Given the description of an element on the screen output the (x, y) to click on. 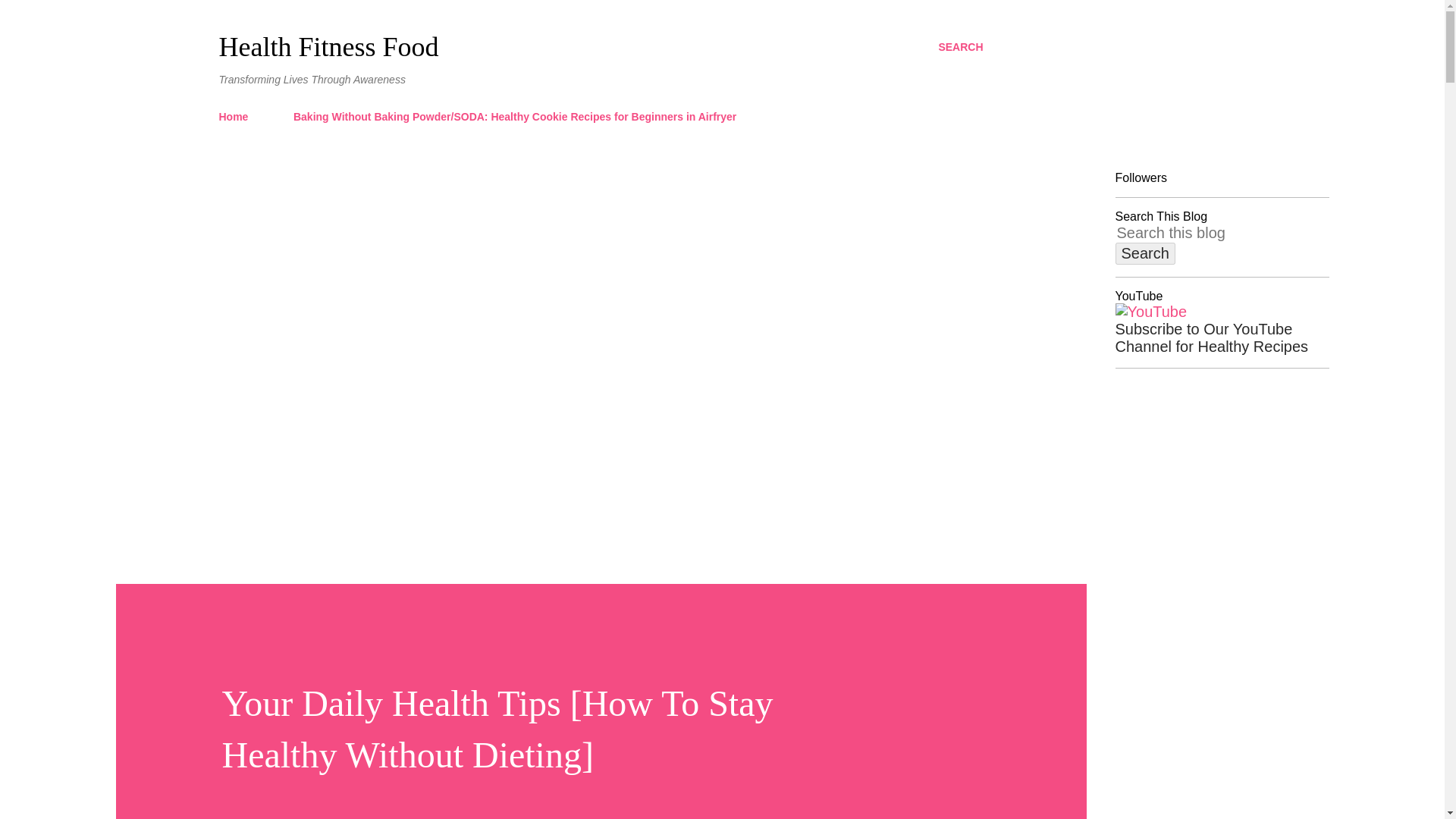
Search (1144, 253)
SEARCH (959, 46)
Health Fitness Food (328, 46)
Search (1144, 253)
Home (237, 116)
